Given the description of an element on the screen output the (x, y) to click on. 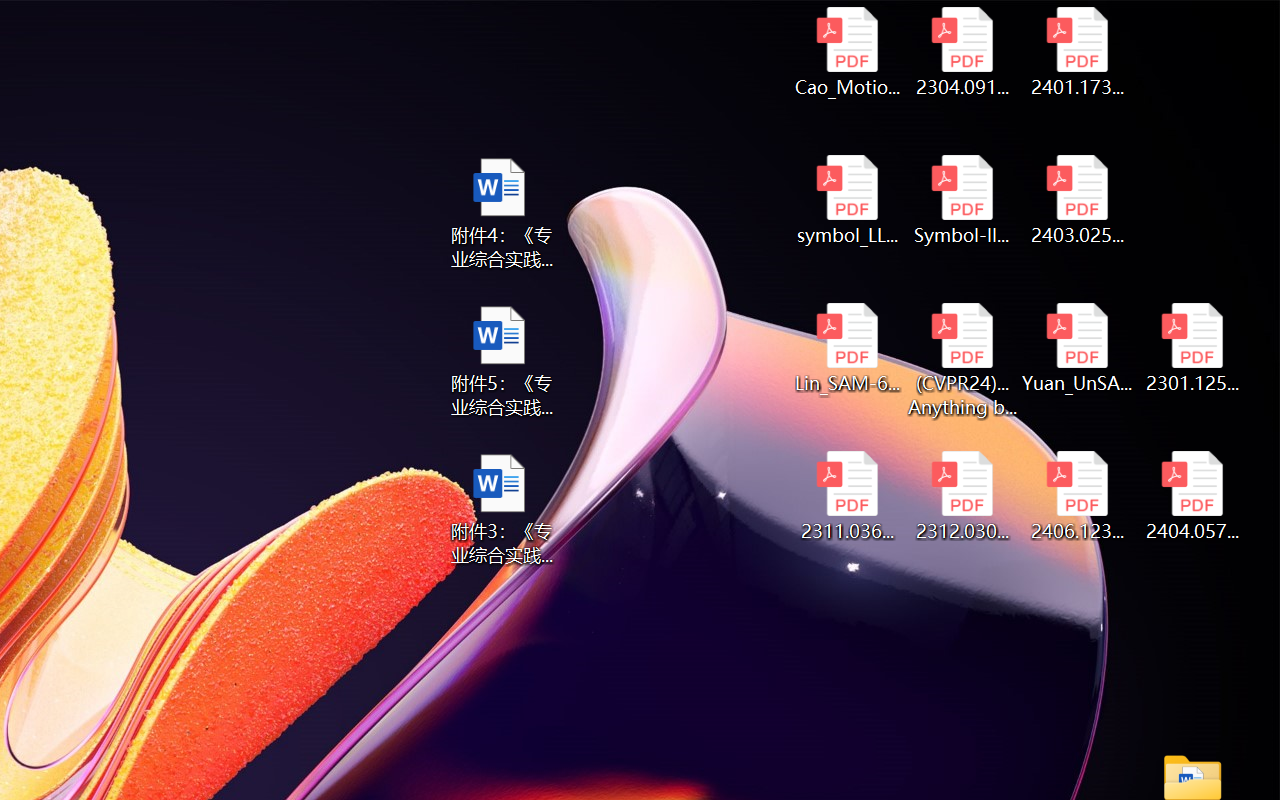
2401.17399v1.pdf (1077, 52)
2304.09121v3.pdf (962, 52)
Symbol-llm-v2.pdf (962, 200)
2403.02502v1.pdf (1077, 200)
symbol_LLM.pdf (846, 200)
(CVPR24)Matching Anything by Segmenting Anything.pdf (962, 360)
2312.03032v2.pdf (962, 496)
2404.05719v1.pdf (1192, 496)
2311.03658v2.pdf (846, 496)
2301.12597v3.pdf (1192, 348)
